Given the description of an element on the screen output the (x, y) to click on. 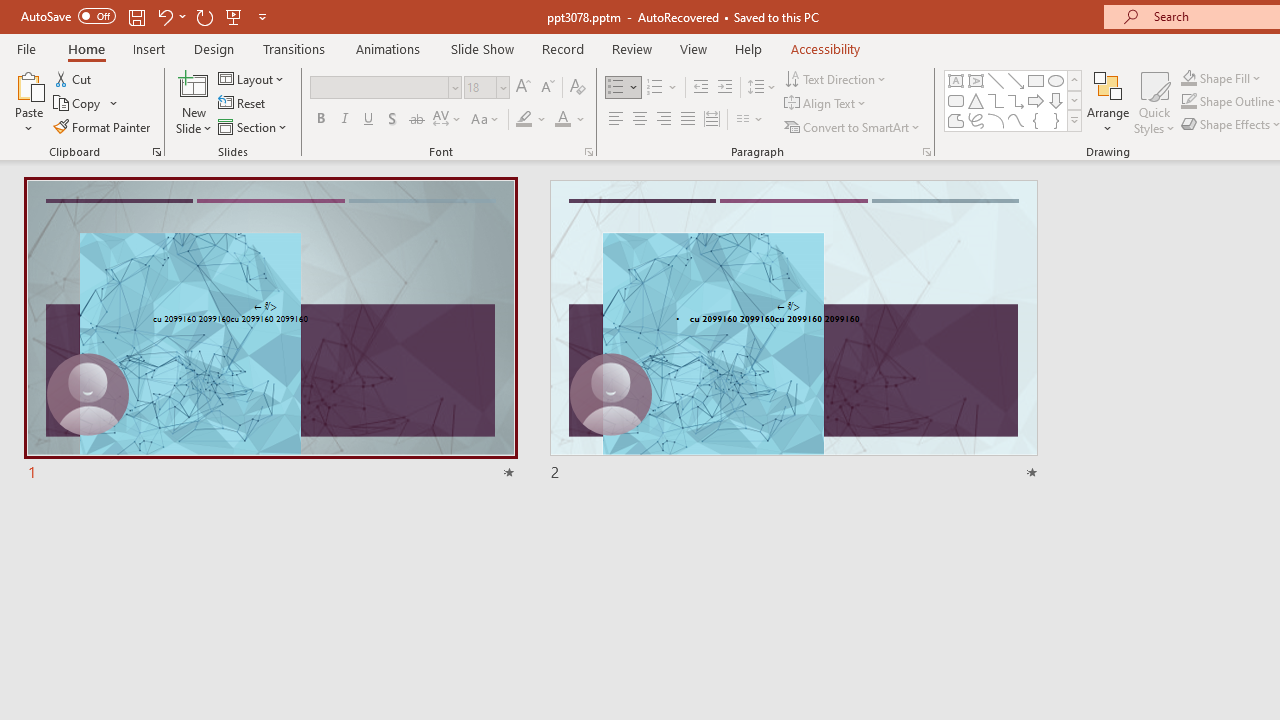
Shape Outline Green, Accent 1 (1188, 101)
